Given the description of an element on the screen output the (x, y) to click on. 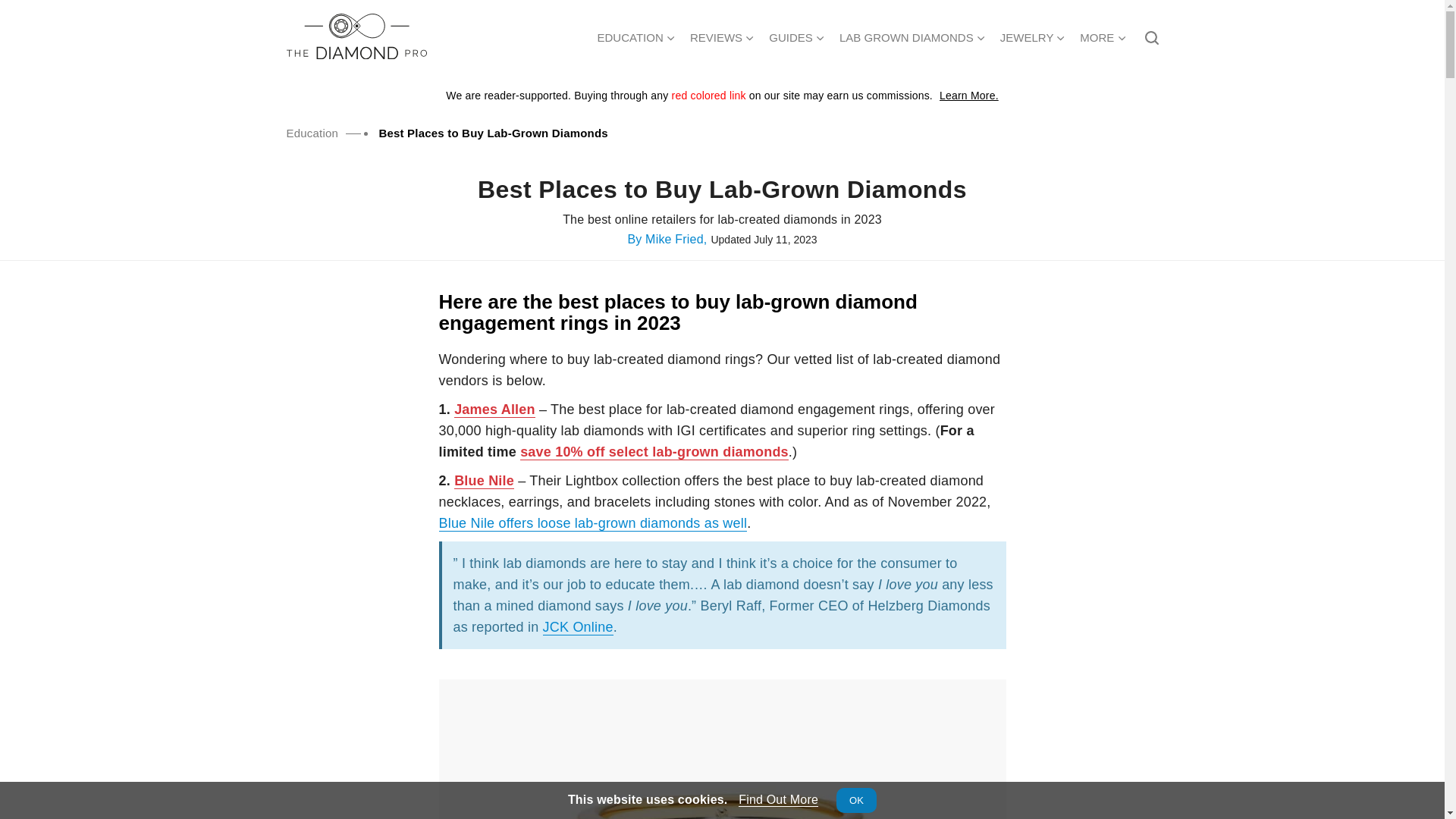
EDUCATION (635, 36)
